Given the description of an element on the screen output the (x, y) to click on. 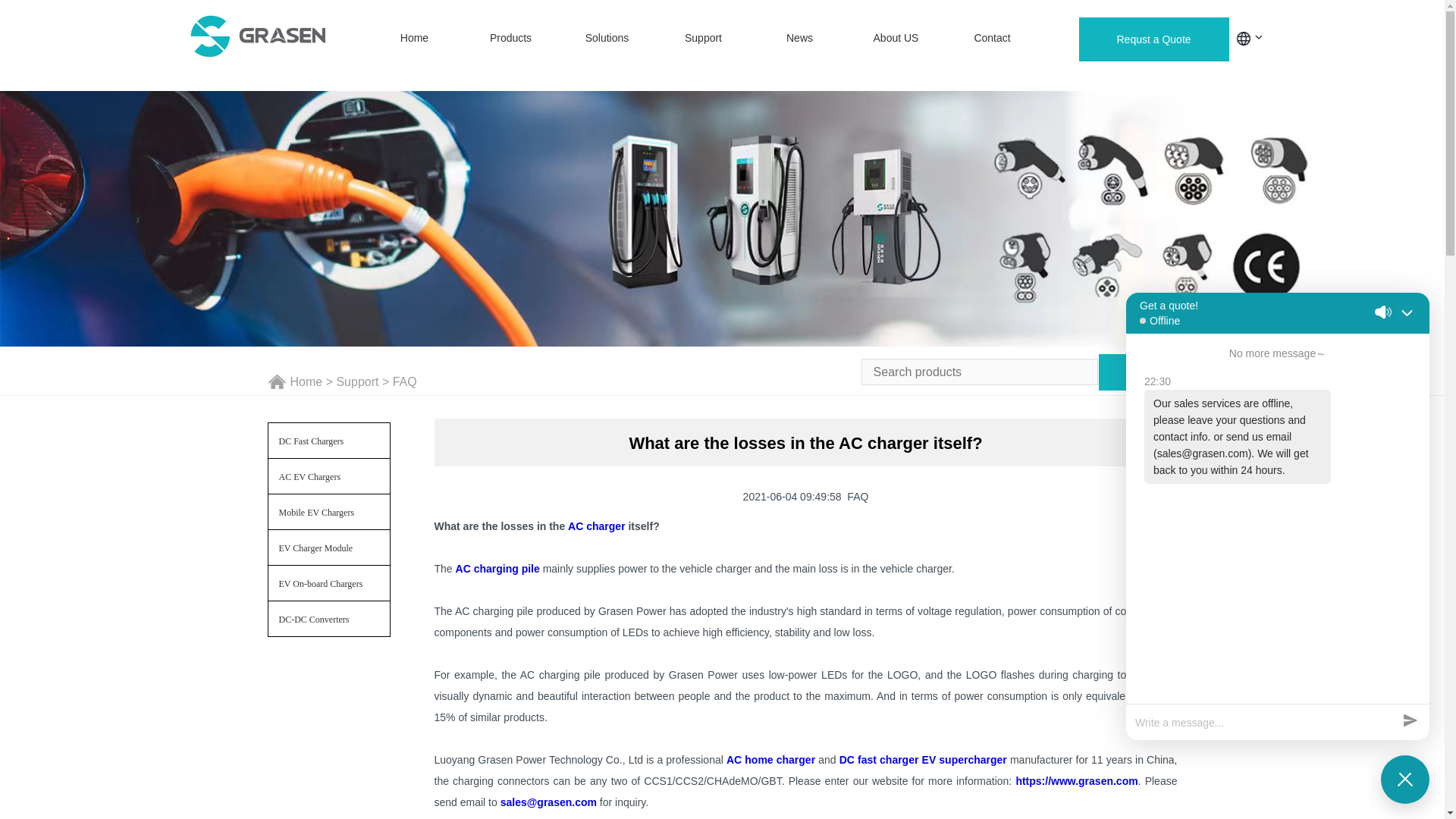
Support (703, 37)
Home (414, 37)
Contact (992, 37)
AC charging pile (497, 568)
Products (511, 37)
AC charger (595, 526)
About US (895, 37)
EV Charger Module (328, 547)
News (799, 37)
Mobile EV Chargers (328, 511)
DC-DC Converters (328, 618)
FAQ (404, 381)
AC home charger (770, 759)
Requst a Quote (1153, 39)
Solutions (606, 37)
